Given the description of an element on the screen output the (x, y) to click on. 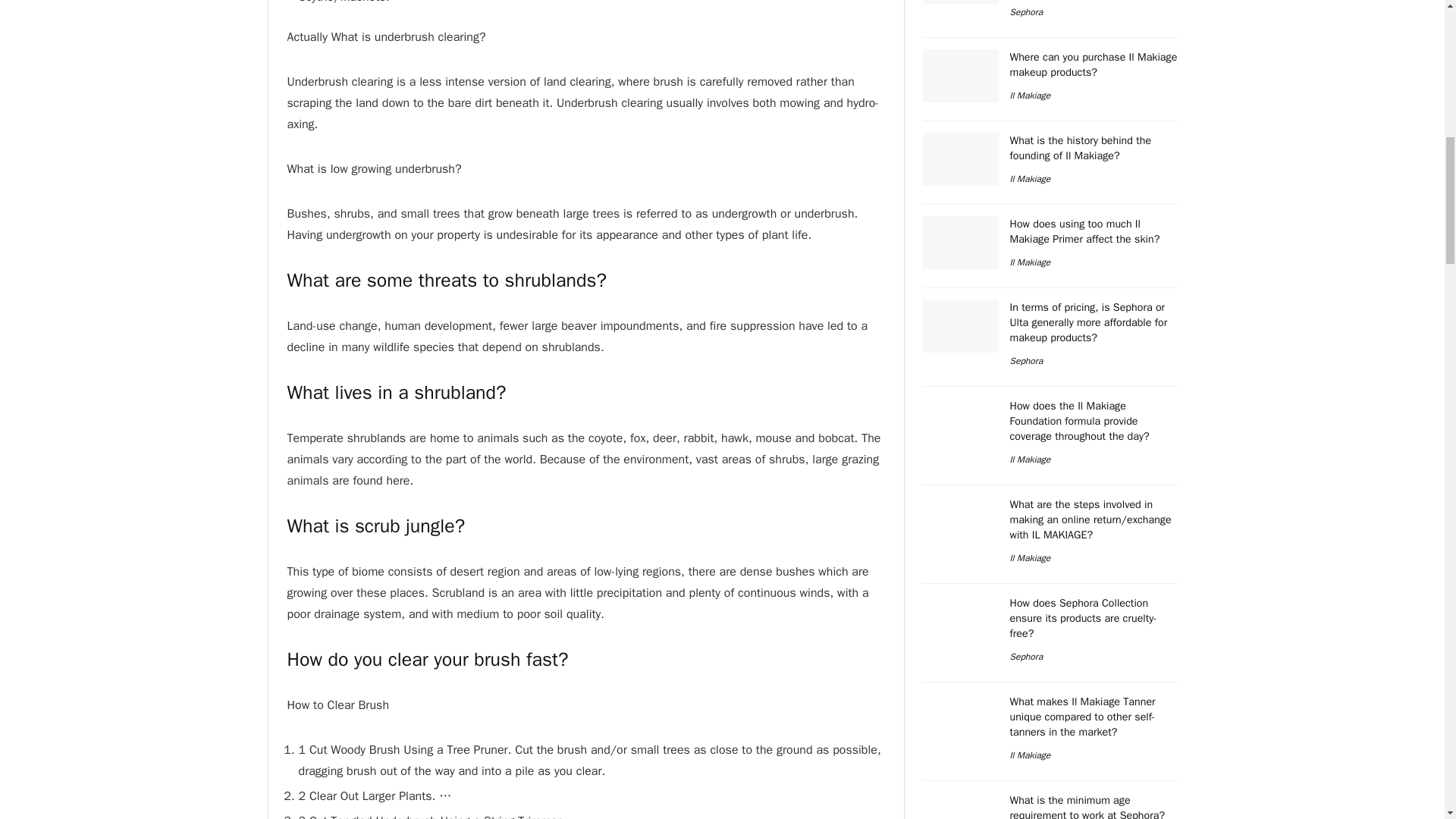
Sephora (1026, 11)
